Given the description of an element on the screen output the (x, y) to click on. 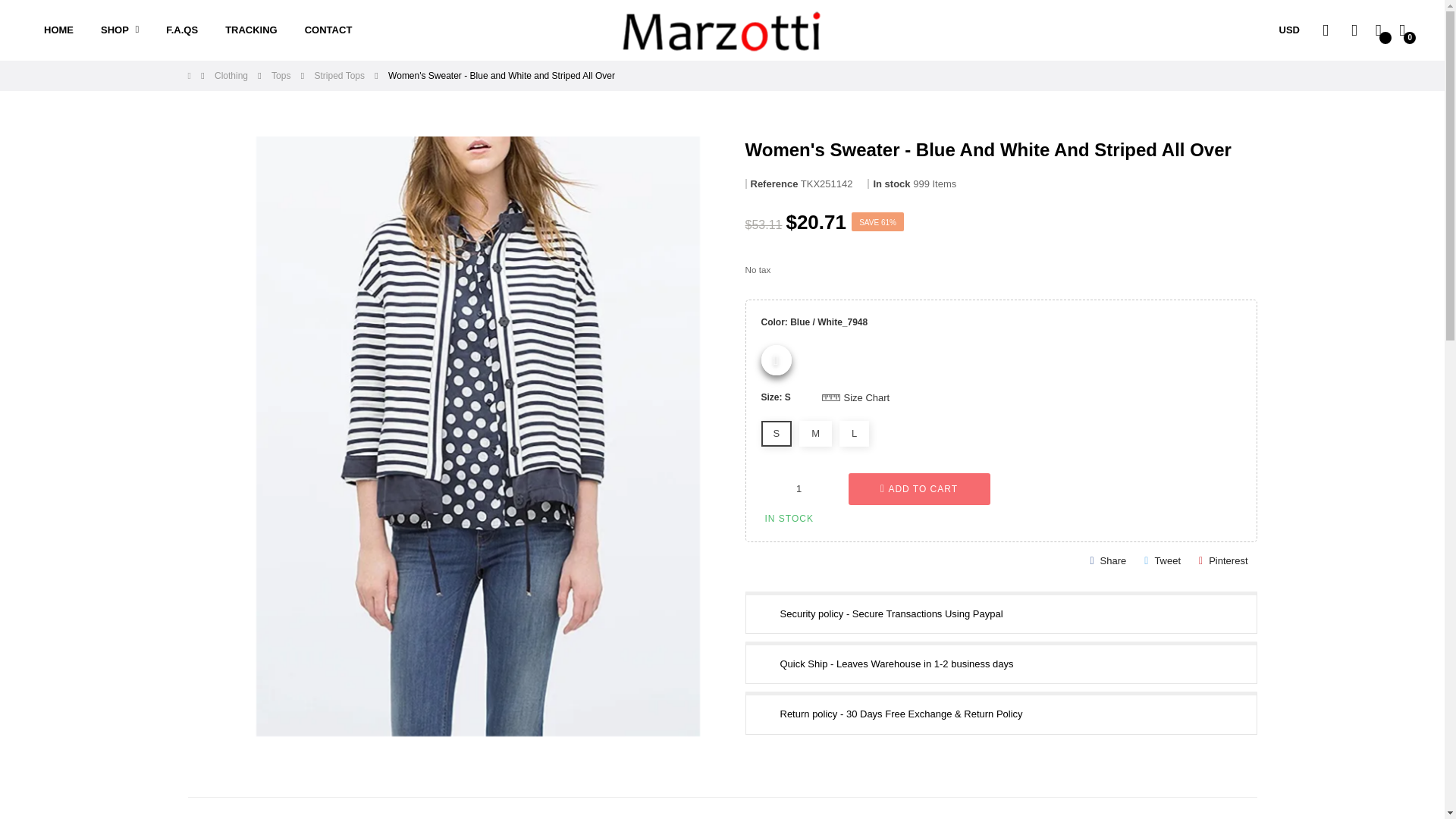
HOME (58, 30)
SHOP (119, 30)
1 (799, 488)
